Given the description of an element on the screen output the (x, y) to click on. 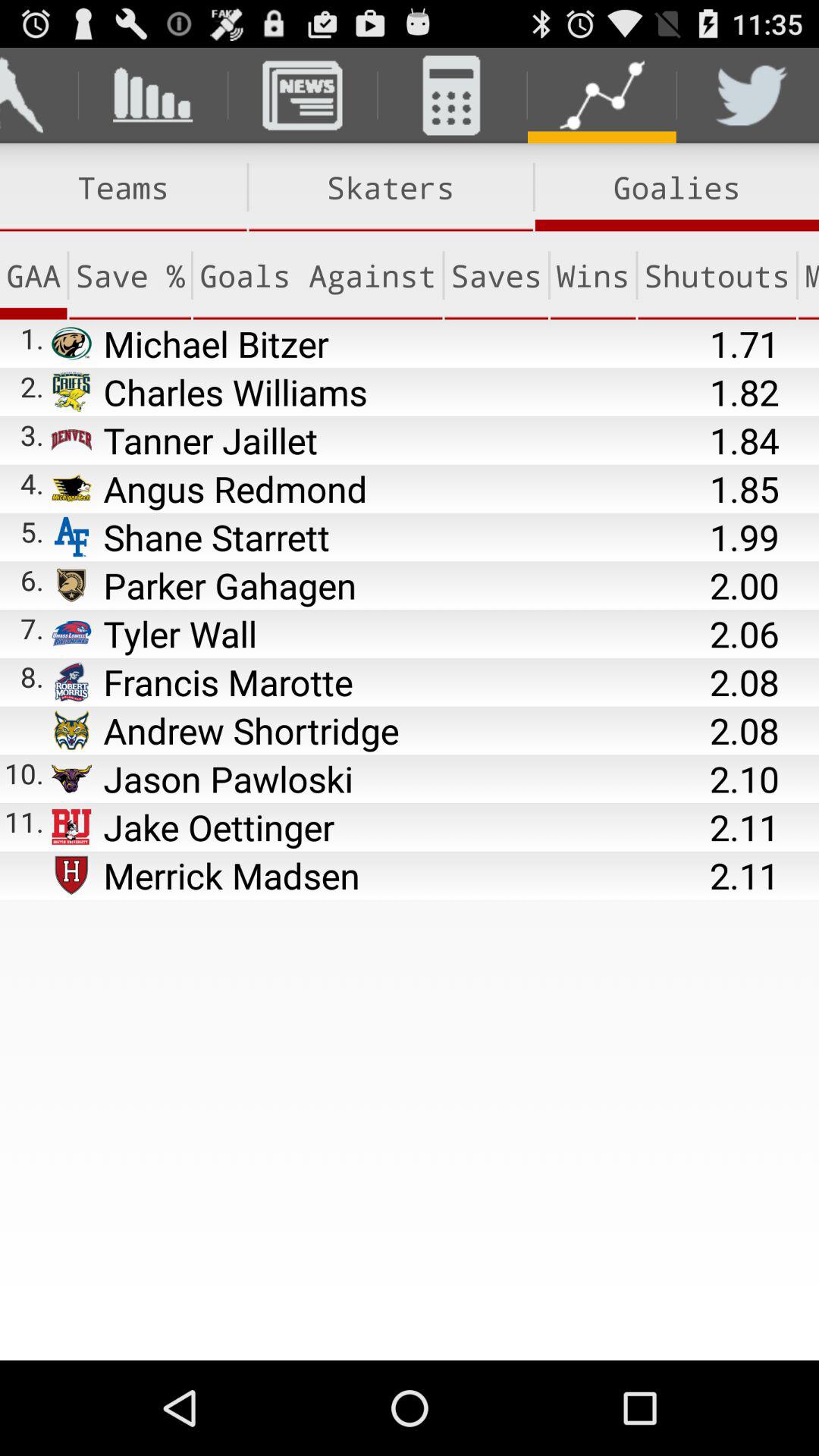
turn on item below the teams icon (317, 275)
